Given the description of an element on the screen output the (x, y) to click on. 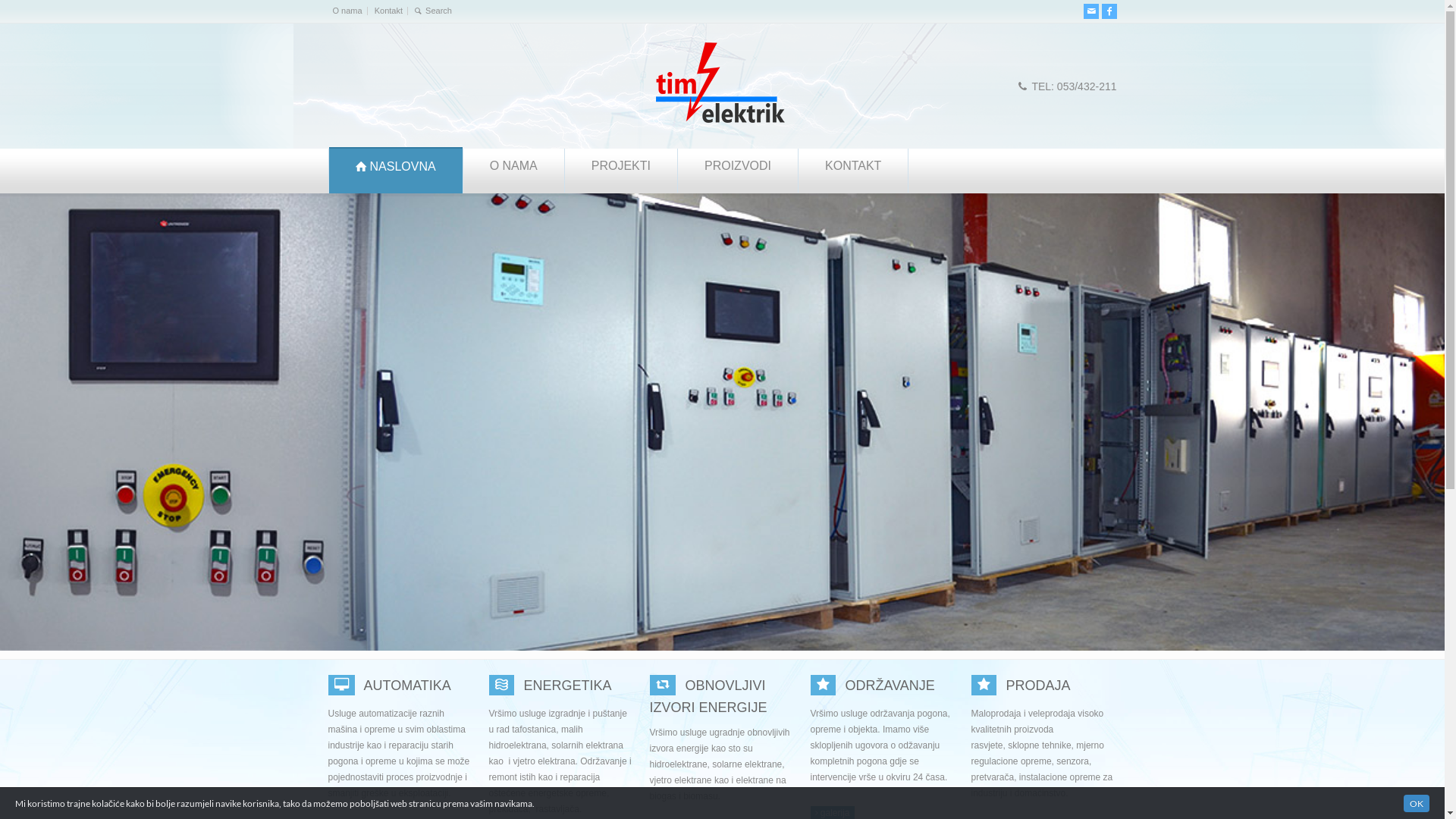
Kontakt Element type: text (388, 10)
OBNOVLJIVI IZVORI ENERGIJE Element type: text (707, 696)
Email Element type: hover (1090, 10)
ENERGETIKA Element type: text (567, 685)
PRODAJA Element type: hover (985, 685)
PROJEKTI
  Element type: text (620, 170)
O nama Element type: text (346, 10)
OK Element type: text (1416, 803)
PRODAJA Element type: text (1038, 685)
TIM ELEKTRIK Element type: hover (721, 121)
KONTAKT
  Element type: text (852, 170)
PROIZVODI
  Element type: text (737, 170)
OBNOVLJIVI IZVORI ENERGIJE Element type: hover (664, 685)
Facebook Element type: hover (1108, 10)
O NAMA
  Element type: text (513, 170)
AUTOMATIKA Element type: hover (343, 685)
NASLOVNA
  Element type: text (395, 170)
AUTOMATIKA Element type: text (407, 685)
ENERGETIKA Element type: hover (503, 685)
